Given the description of an element on the screen output the (x, y) to click on. 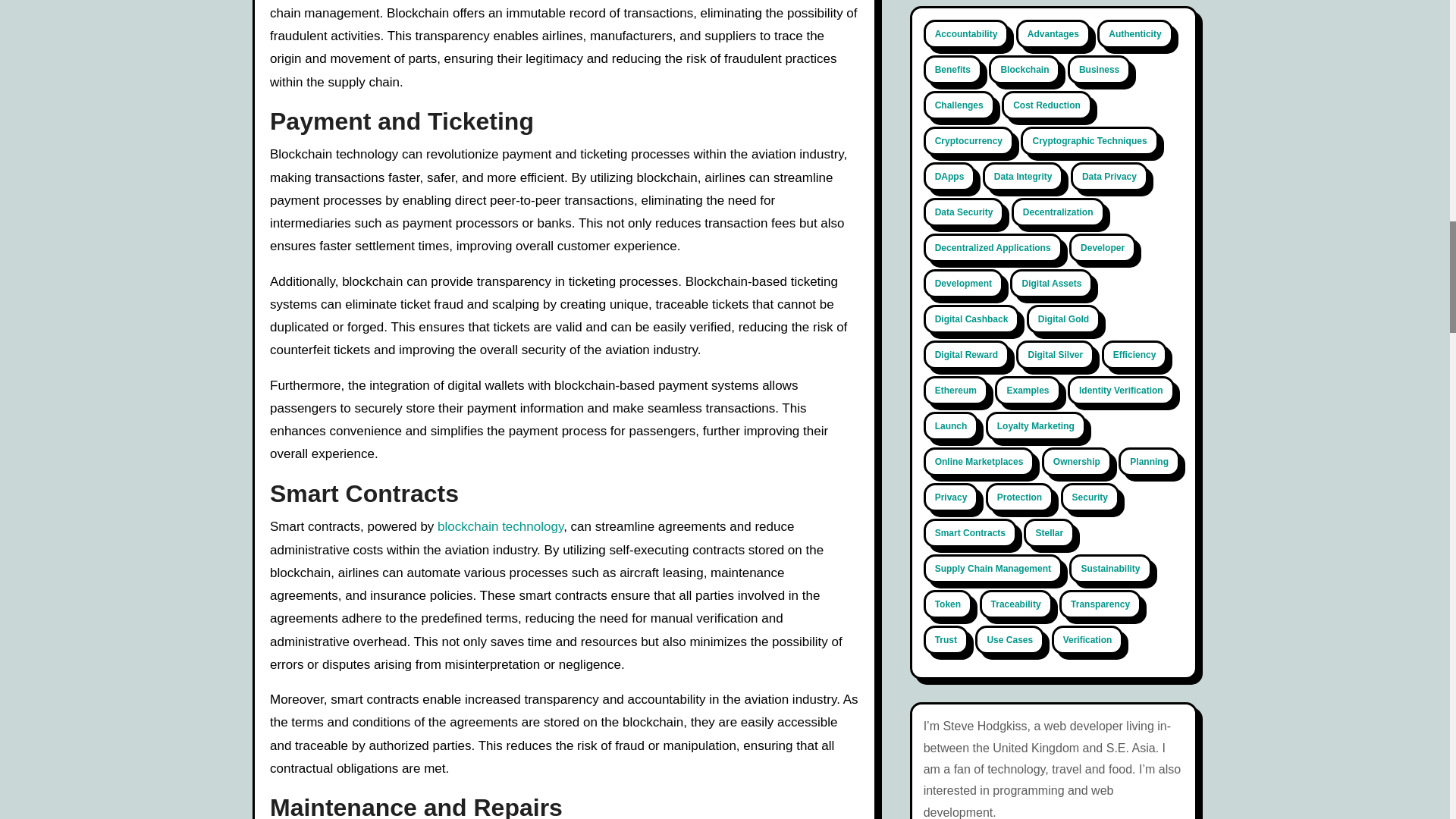
blockchain technology (498, 526)
